Given the description of an element on the screen output the (x, y) to click on. 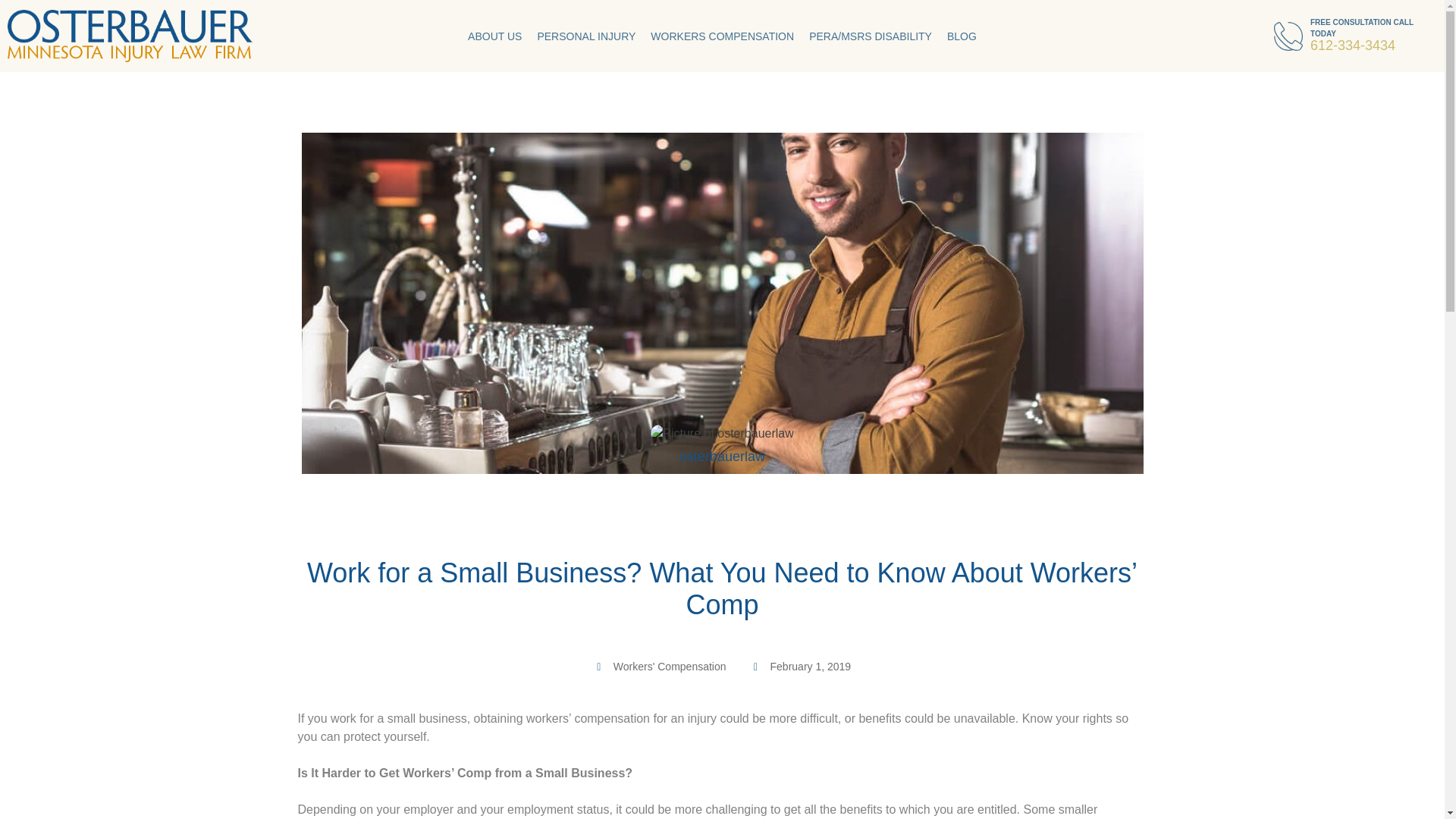
PERSONAL INJURY (585, 34)
ABOUT US (494, 30)
WORKERS COMPENSATION (721, 36)
